Given the description of an element on the screen output the (x, y) to click on. 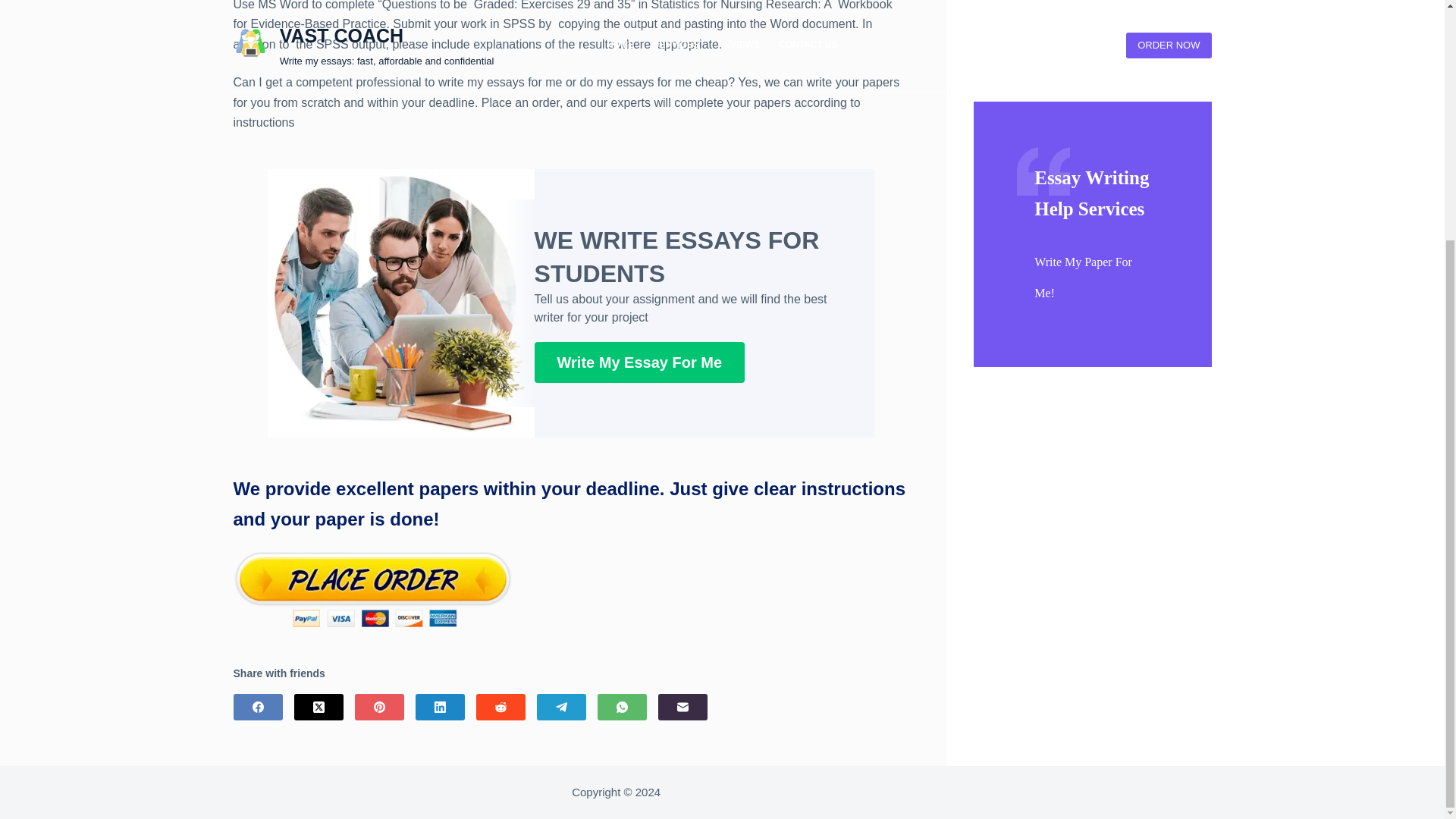
Write My Essay For Me (639, 362)
